Given the description of an element on the screen output the (x, y) to click on. 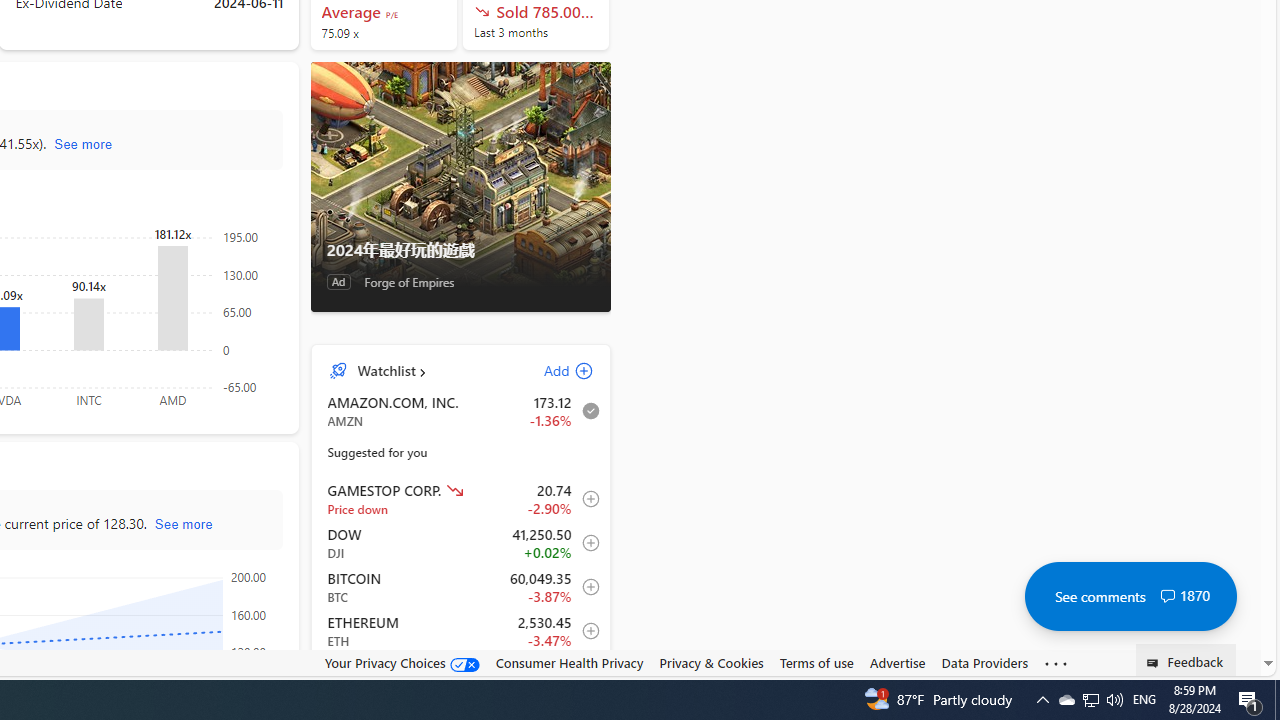
Advertise (897, 663)
Consumer Health Privacy (569, 663)
See more (1055, 664)
ETH Ethereum decrease 2,530.45 -87.83 -3.47% item3 (461, 631)
Data Providers (983, 662)
Class: oneFooter_seeMore-DS-EntryPoint1-1 (1055, 663)
Add (551, 370)
DJI DOW increase 41,250.50 +9.98 +0.02% item1 (461, 543)
Your Privacy Choices (401, 663)
See comments 1870 (1130, 596)
BNB BNB decrease 543.57 -7.28 -1.34% item4 (461, 674)
Add to Watchlist (585, 674)
